Given the description of an element on the screen output the (x, y) to click on. 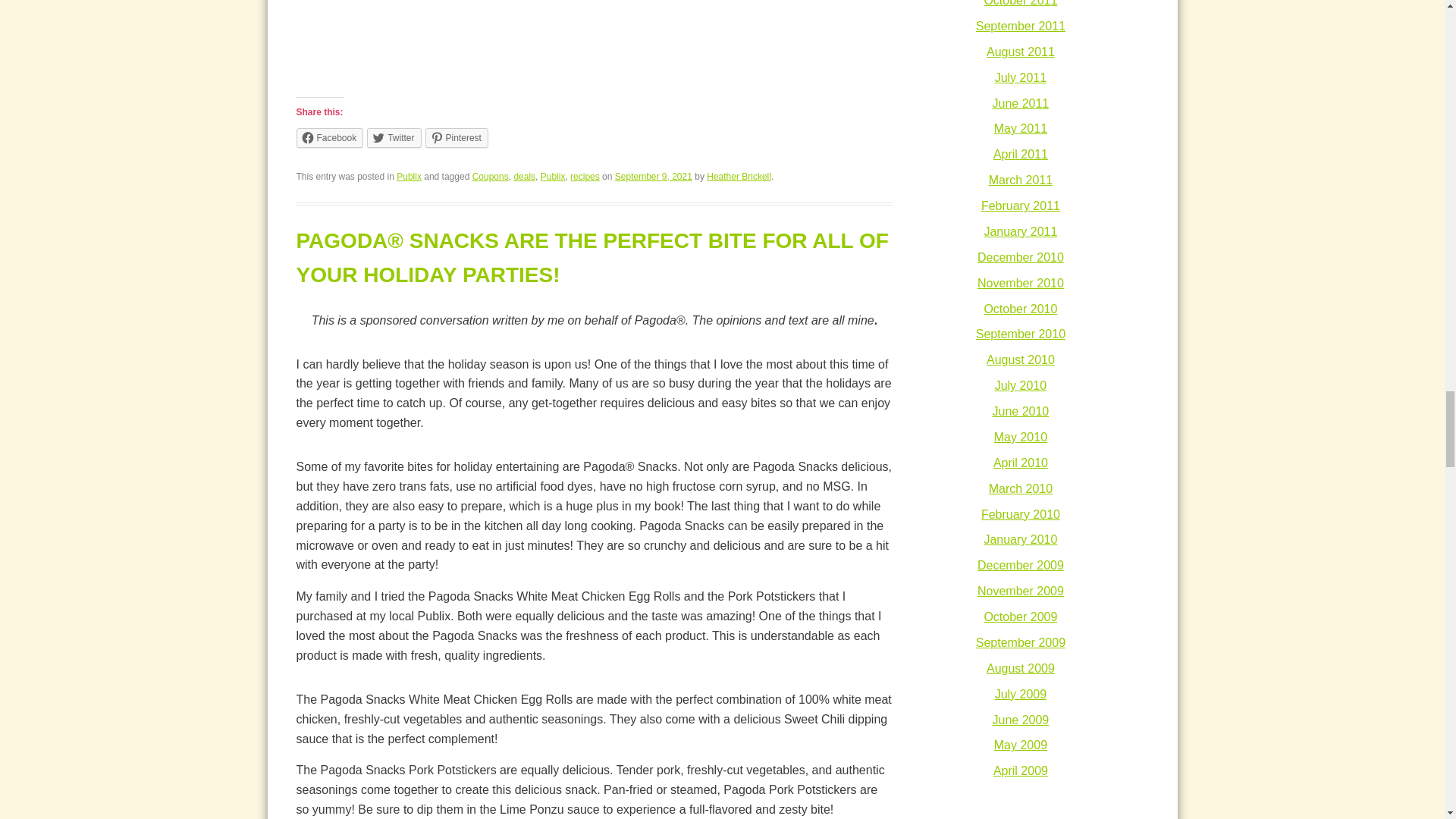
Click to share on Facebook (328, 137)
6:40 am (653, 176)
Click to share on Twitter (393, 137)
View all posts by Heather Brickell (738, 176)
Click to share on Pinterest (456, 137)
